Given the description of an element on the screen output the (x, y) to click on. 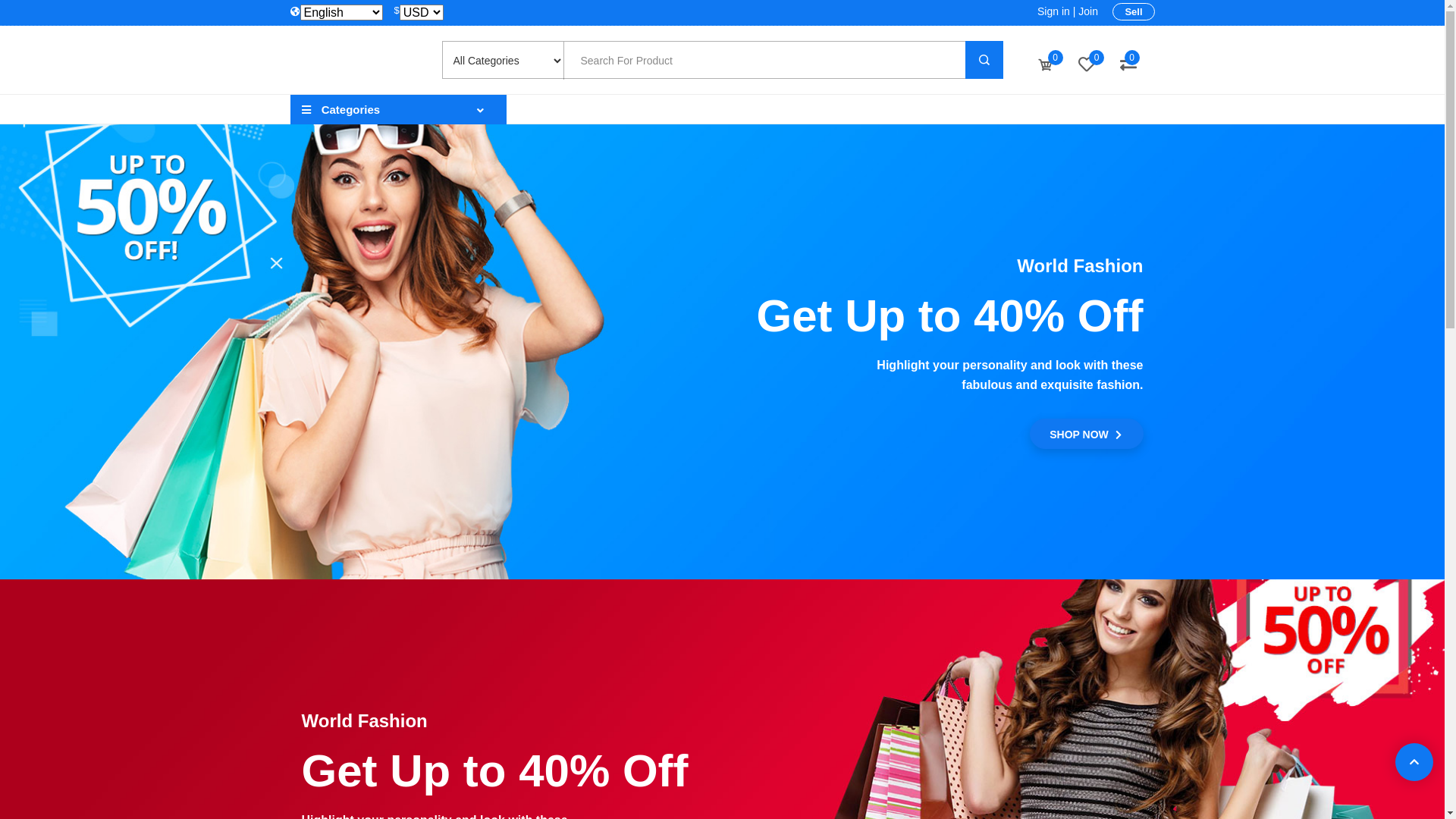
Sell Element type: text (1133, 11)
Sign in | Join Element type: text (1067, 11)
0 Element type: text (1086, 64)
0 Element type: text (1045, 64)
0 Element type: text (1127, 64)
SHOP NOW Element type: text (1086, 433)
